Given the description of an element on the screen output the (x, y) to click on. 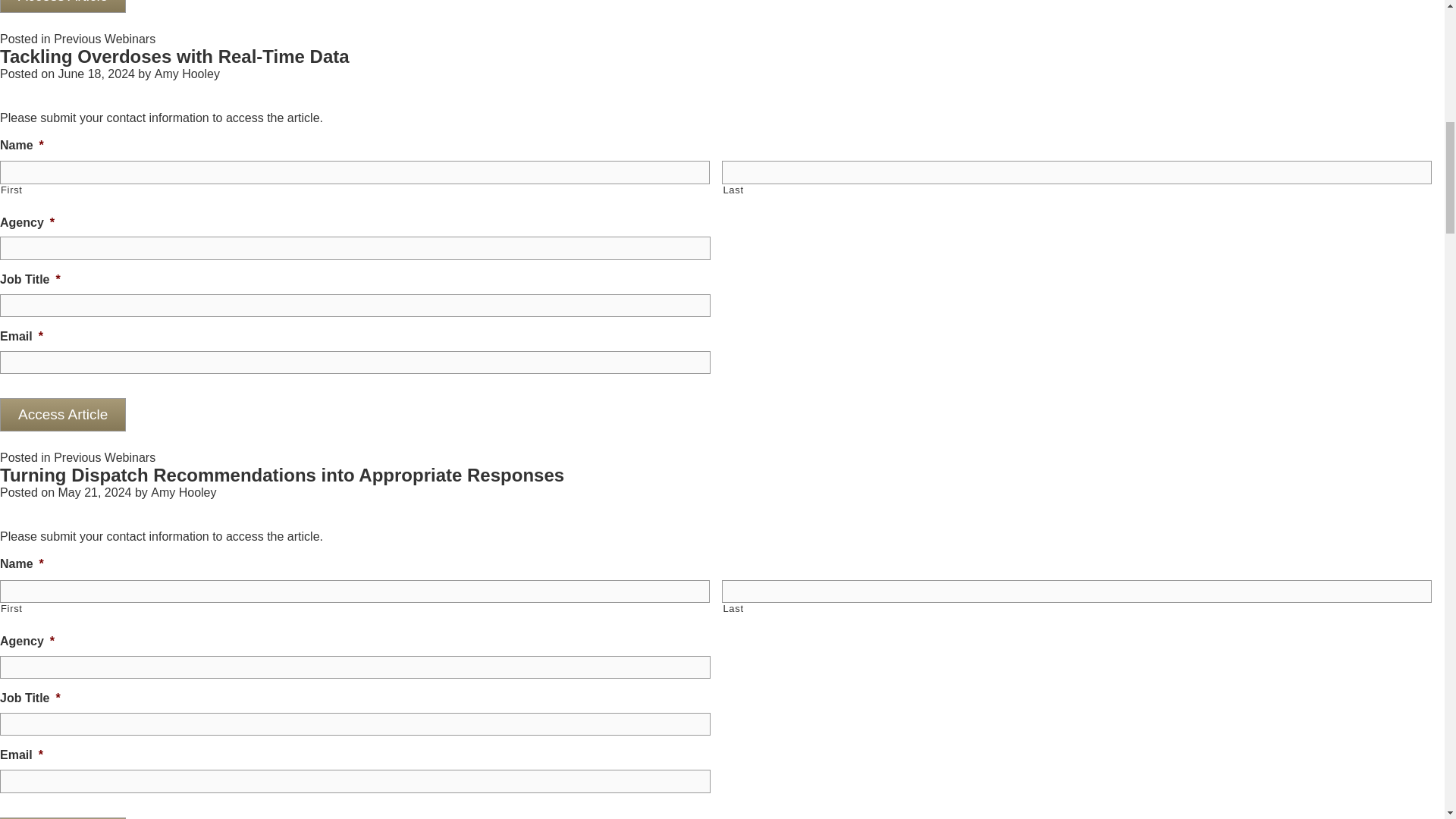
Access Article (62, 414)
June 18, 2024 (95, 73)
Turning Dispatch Recommendations into Appropriate Responses (282, 475)
Previous Webinars (104, 457)
Access Article (62, 818)
Access Article (62, 6)
Previous Webinars (104, 38)
Access Article (62, 818)
Amy Hooley (183, 492)
May 21, 2024 (94, 492)
